Given the description of an element on the screen output the (x, y) to click on. 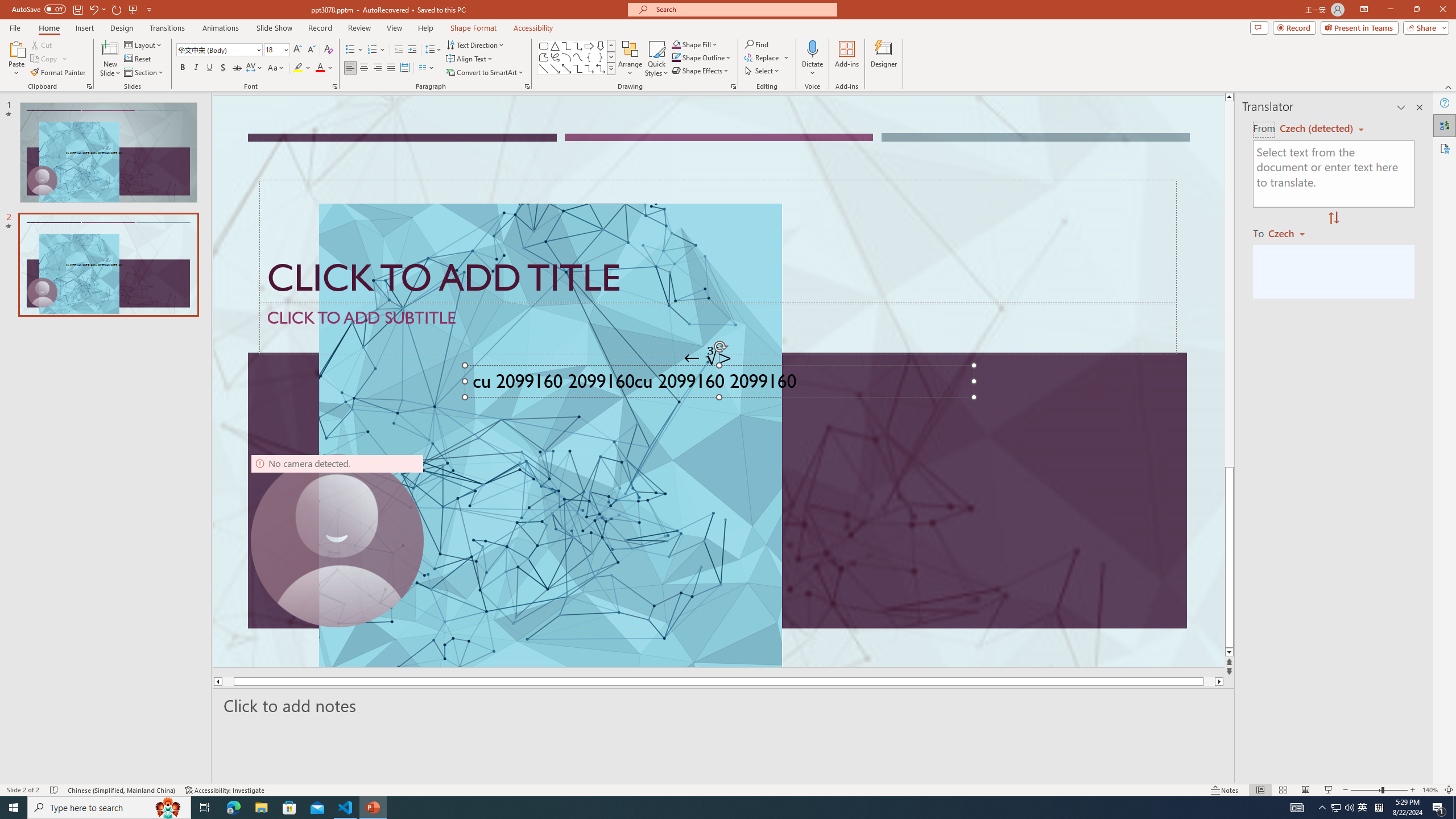
Czech (detected) (1317, 128)
